Given the description of an element on the screen output the (x, y) to click on. 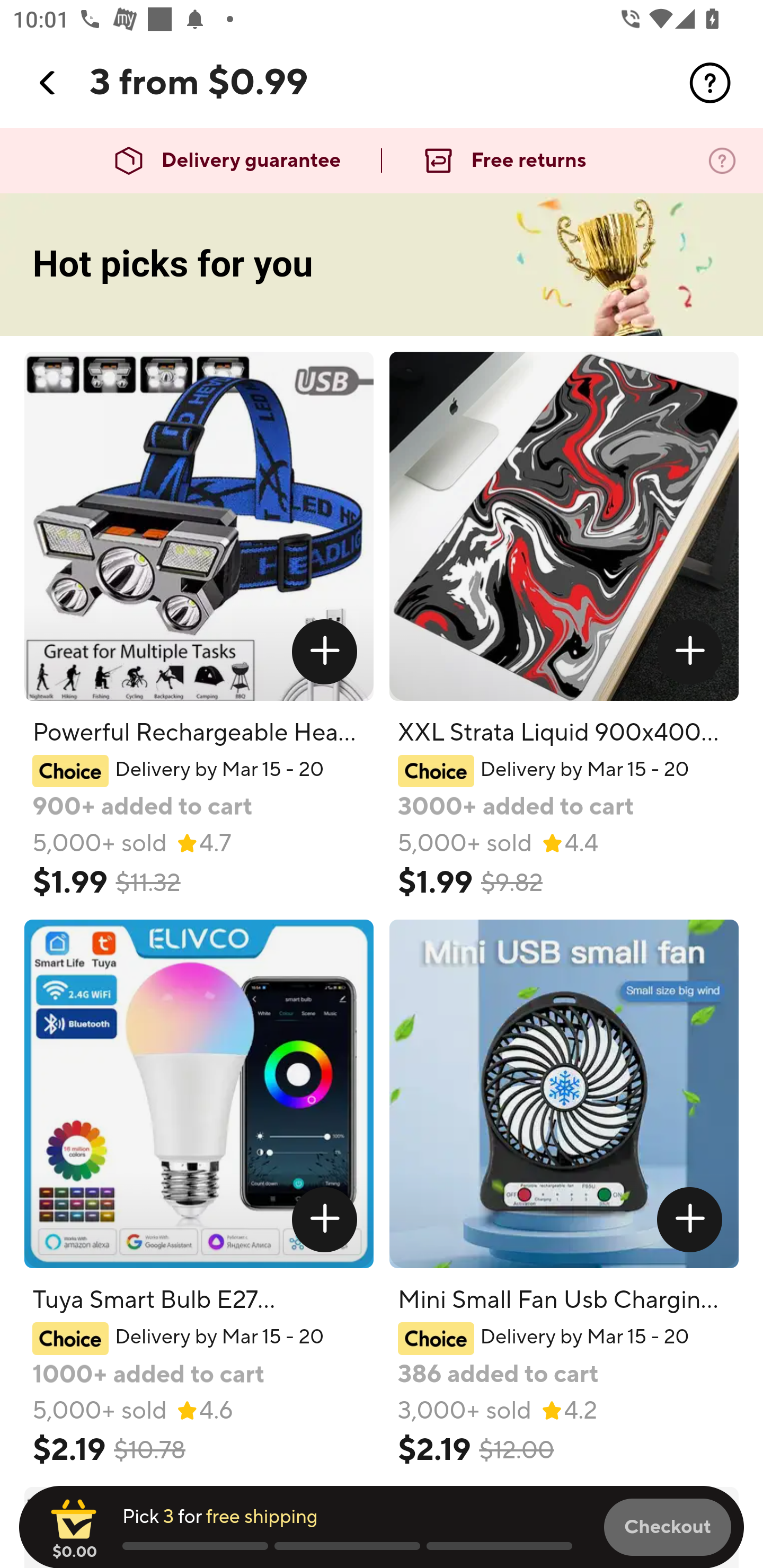
 (710, 82)
 (48, 82)
Hot picks for you (381, 264)
 (323, 651)
 (689, 651)
 (323, 1218)
 (689, 1218)
